Given the description of an element on the screen output the (x, y) to click on. 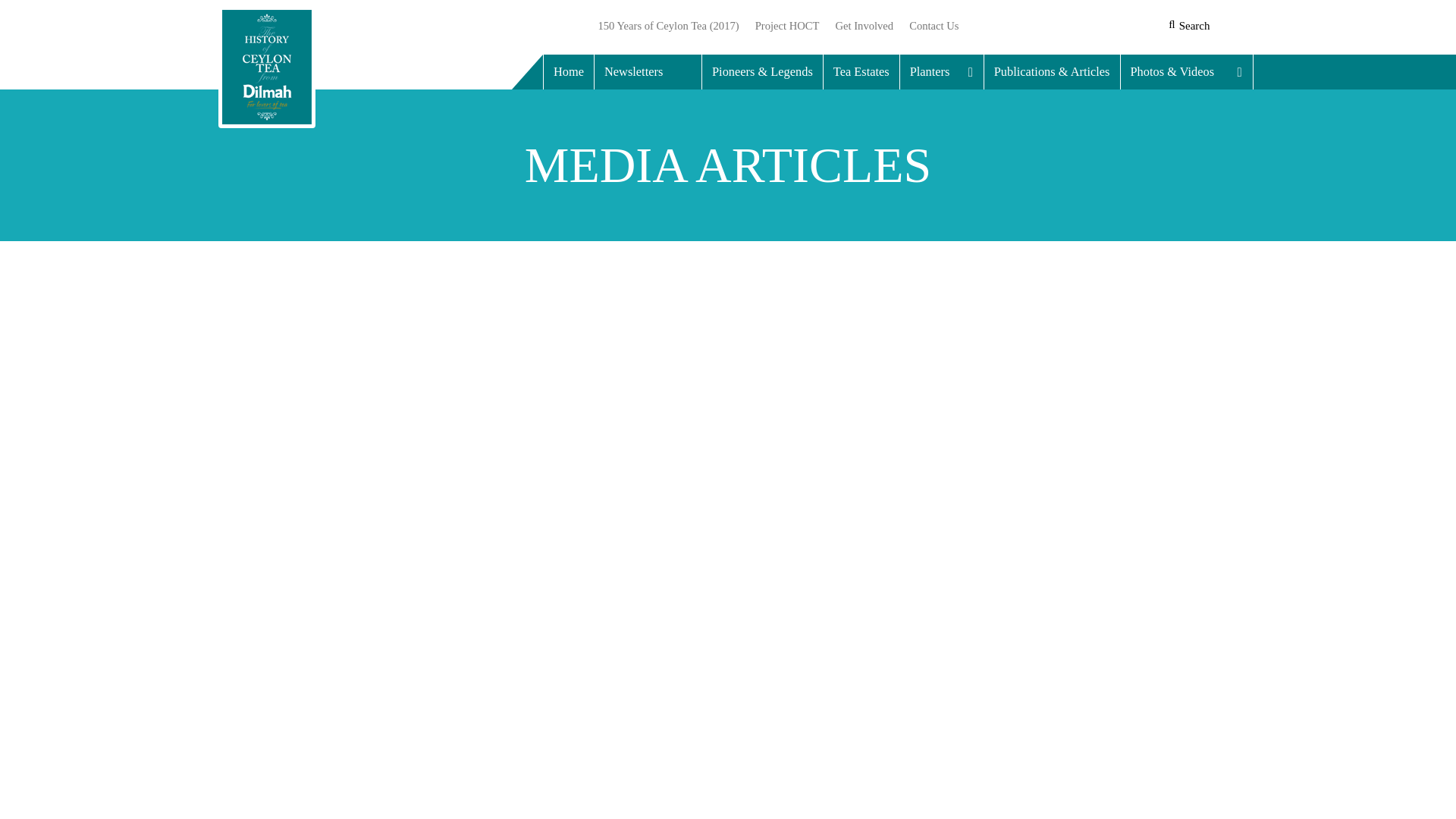
Planters (942, 71)
Tea Estates (860, 71)
Project HOCT (788, 25)
Contact Us (929, 25)
Newsletters (647, 71)
Get Involved (864, 25)
